Given the description of an element on the screen output the (x, y) to click on. 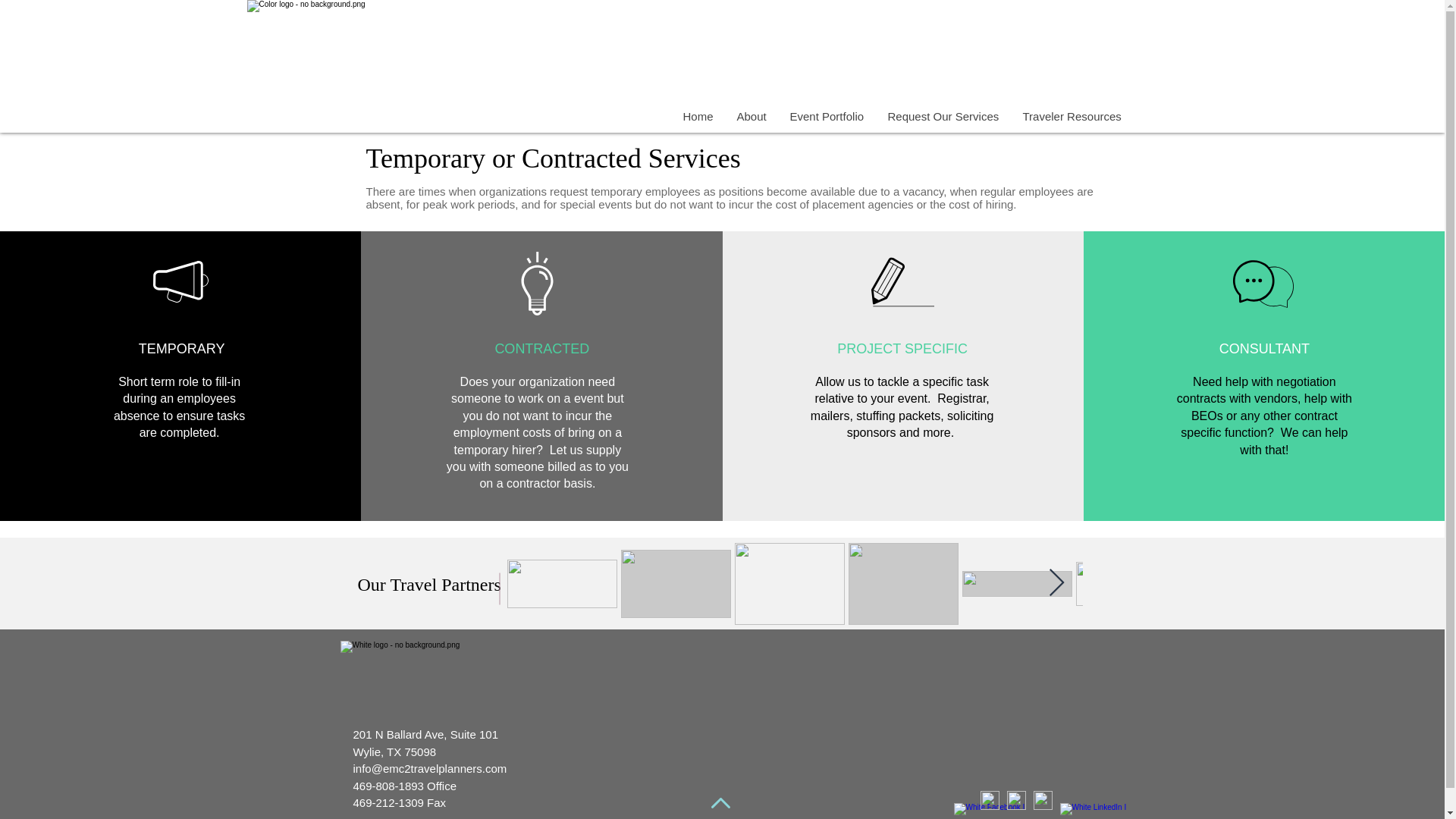
Request Our Services (942, 116)
Event Portfolio (826, 116)
Home (698, 116)
About (751, 116)
